Given the description of an element on the screen output the (x, y) to click on. 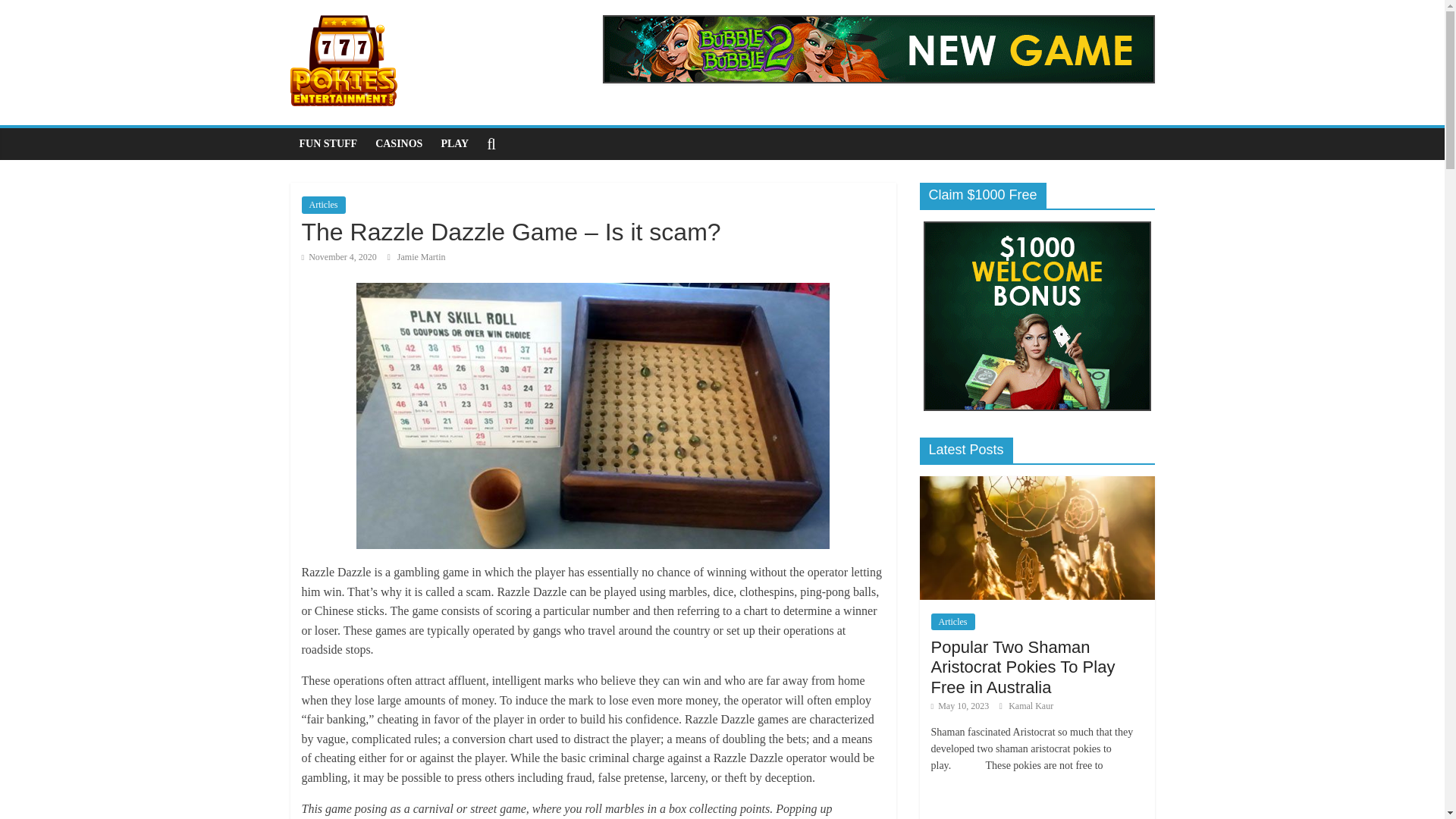
CASINOS (398, 143)
Articles (323, 204)
FUN STUFF (327, 143)
PLAY (453, 143)
Jamie Martin (421, 256)
Articles (953, 621)
Jamie Martin (421, 256)
Kamal Kaur (1030, 706)
November 4, 2020 (339, 256)
